Given the description of an element on the screen output the (x, y) to click on. 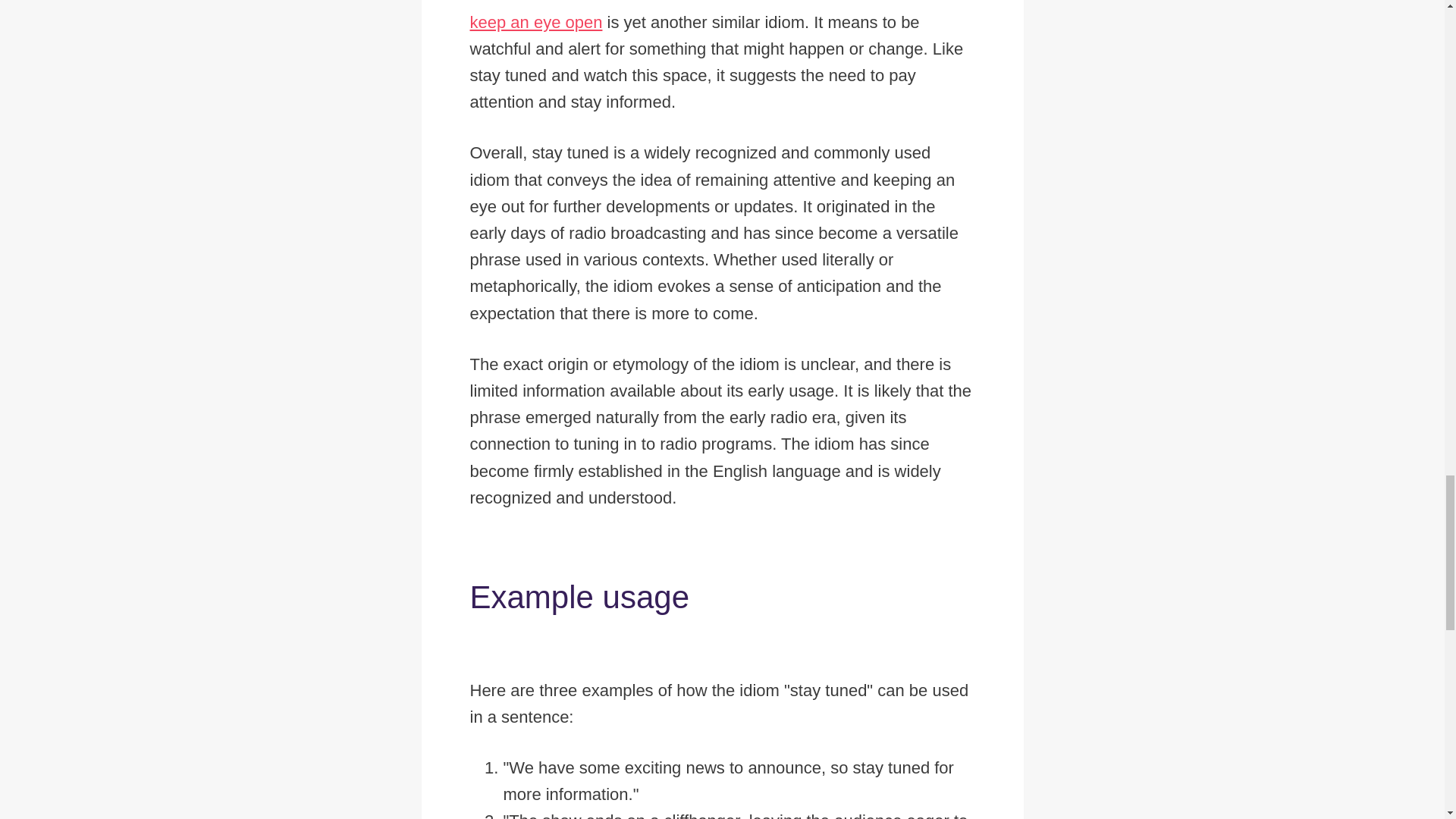
keep an eye open (536, 22)
